Given the description of an element on the screen output the (x, y) to click on. 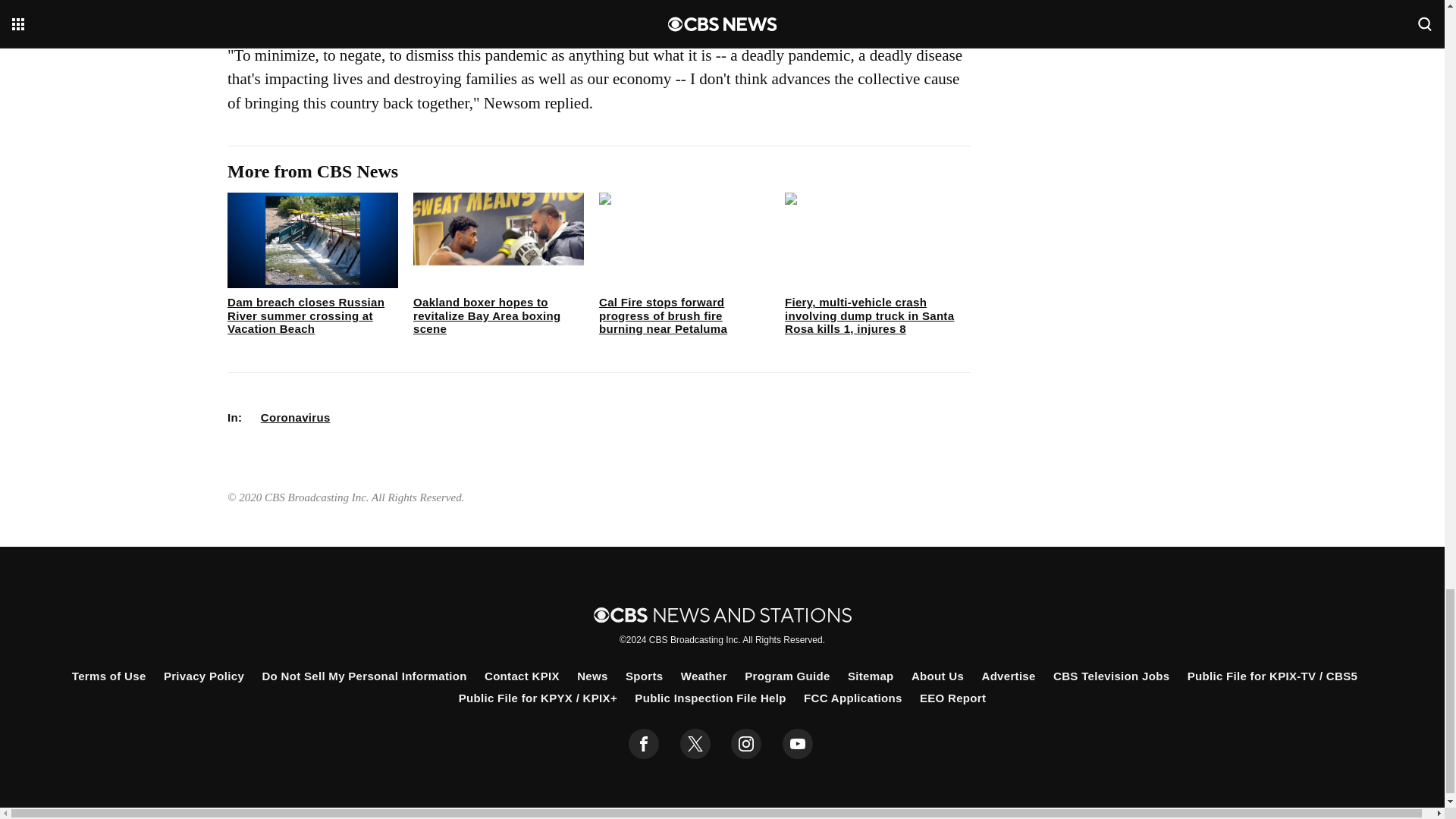
youtube (797, 743)
instagram (745, 743)
twitter (694, 743)
facebook (643, 743)
